Given the description of an element on the screen output the (x, y) to click on. 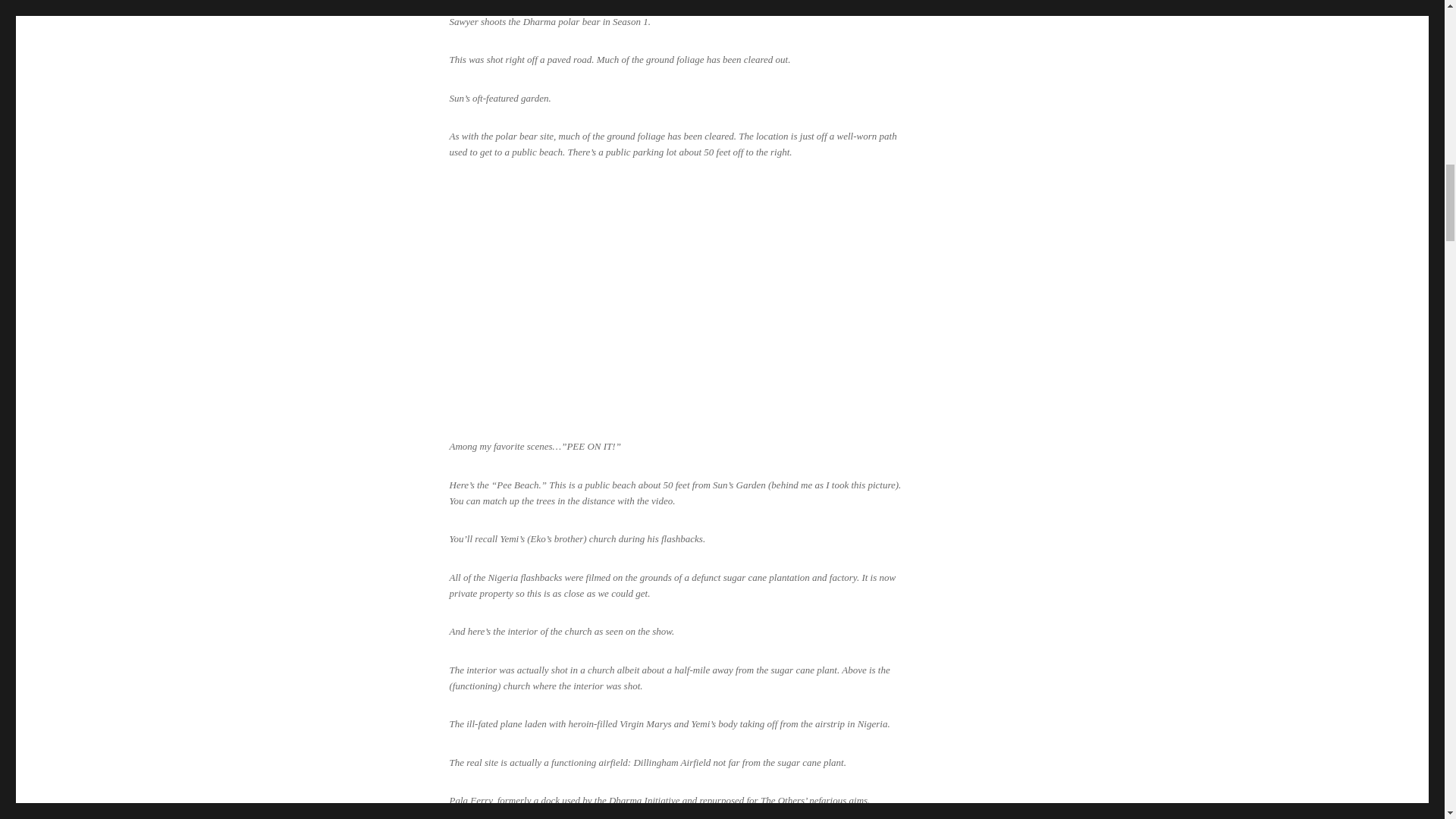
LOST "Pee On It!" (676, 300)
